Given the description of an element on the screen output the (x, y) to click on. 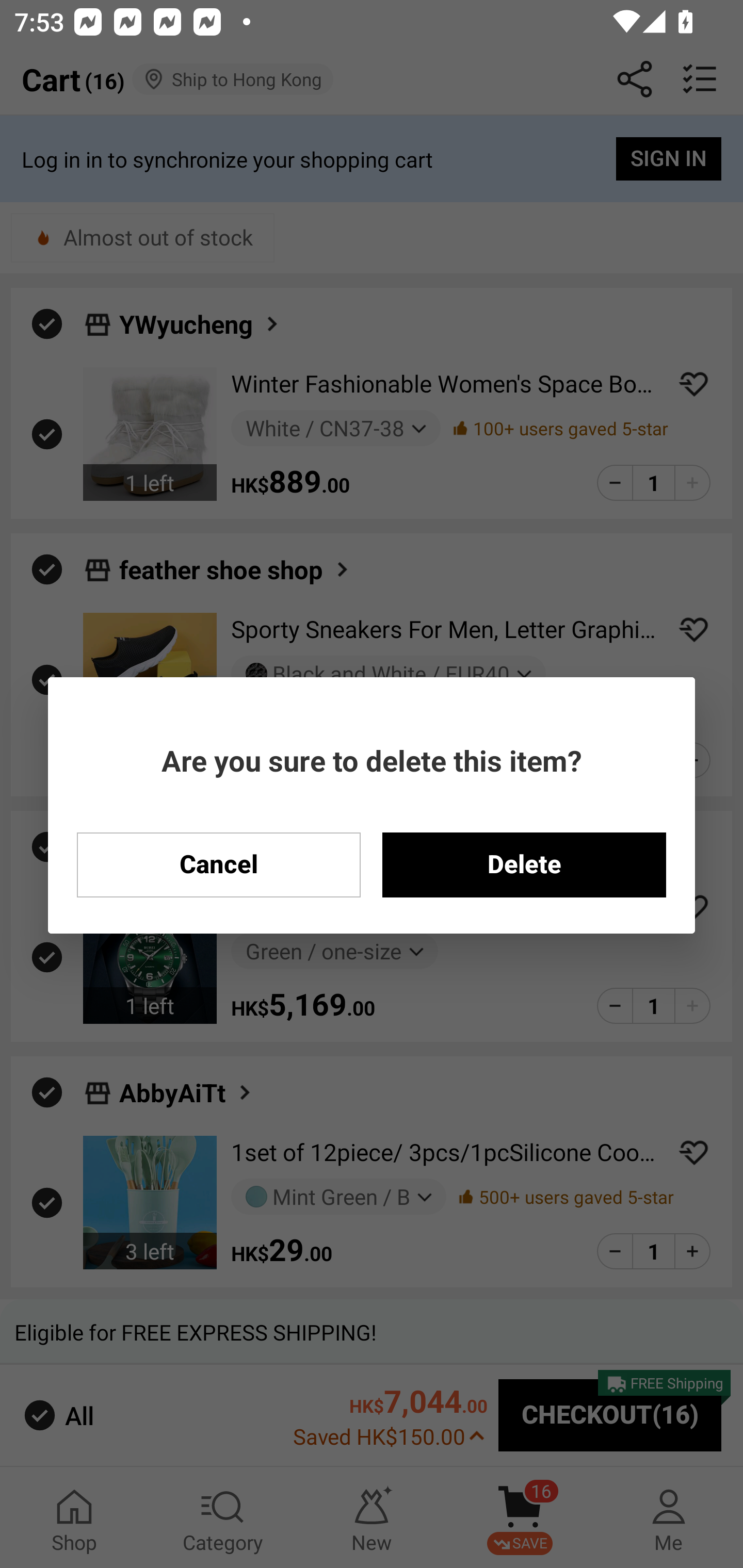
Are you sure to delete this item? (371, 760)
Cancel (218, 864)
Delete (524, 864)
